Given the description of an element on the screen output the (x, y) to click on. 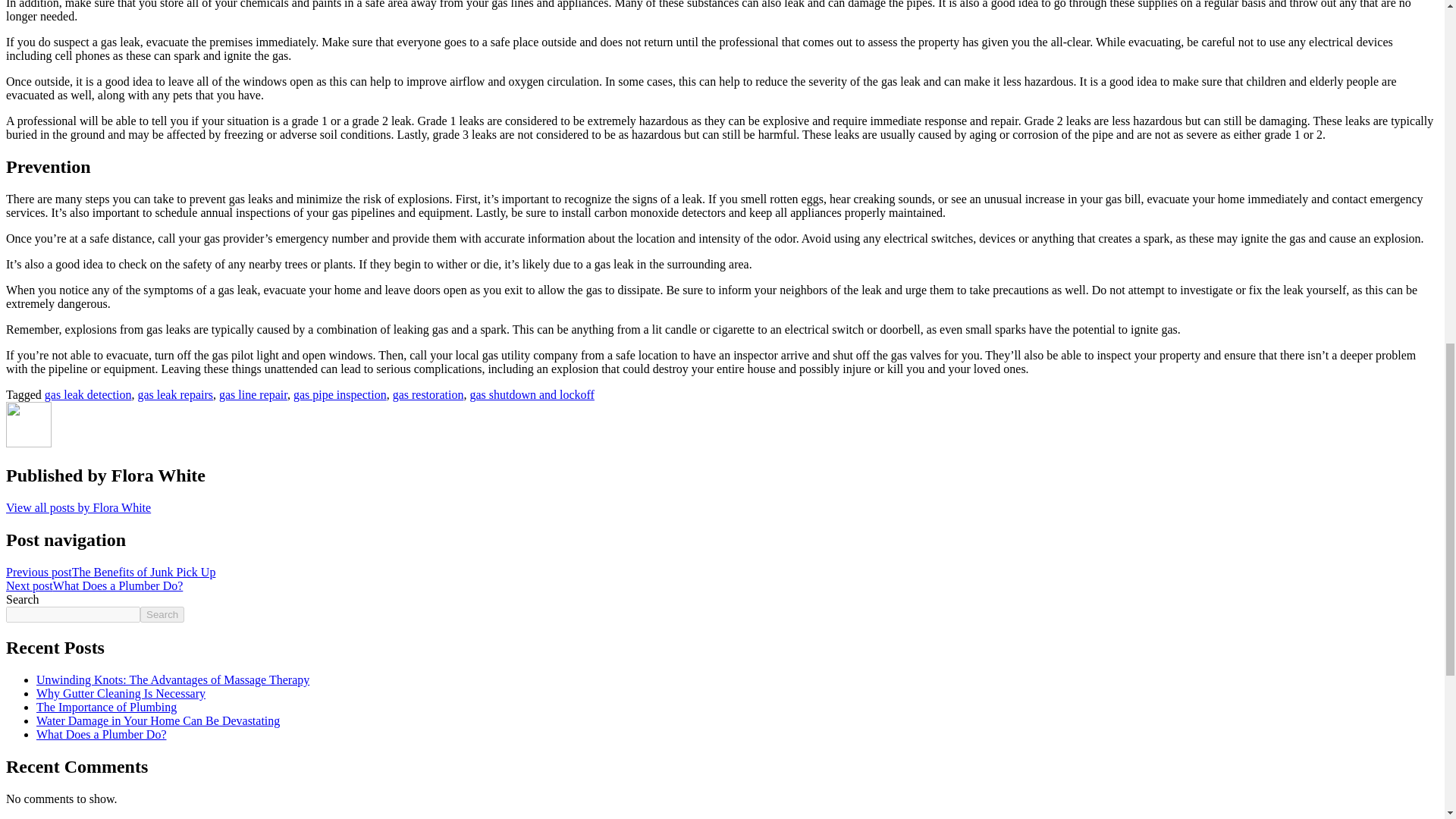
gas line repair (252, 394)
Water Damage in Your Home Can Be Devastating (157, 720)
Next postWhat Does a Plumber Do? (94, 585)
The Importance of Plumbing (106, 707)
gas pipe inspection (340, 394)
View all posts by Flora White (78, 507)
gas shutdown and lockoff (531, 394)
gas leak repairs (174, 394)
gas restoration (428, 394)
What Does a Plumber Do? (101, 734)
